Given the description of an element on the screen output the (x, y) to click on. 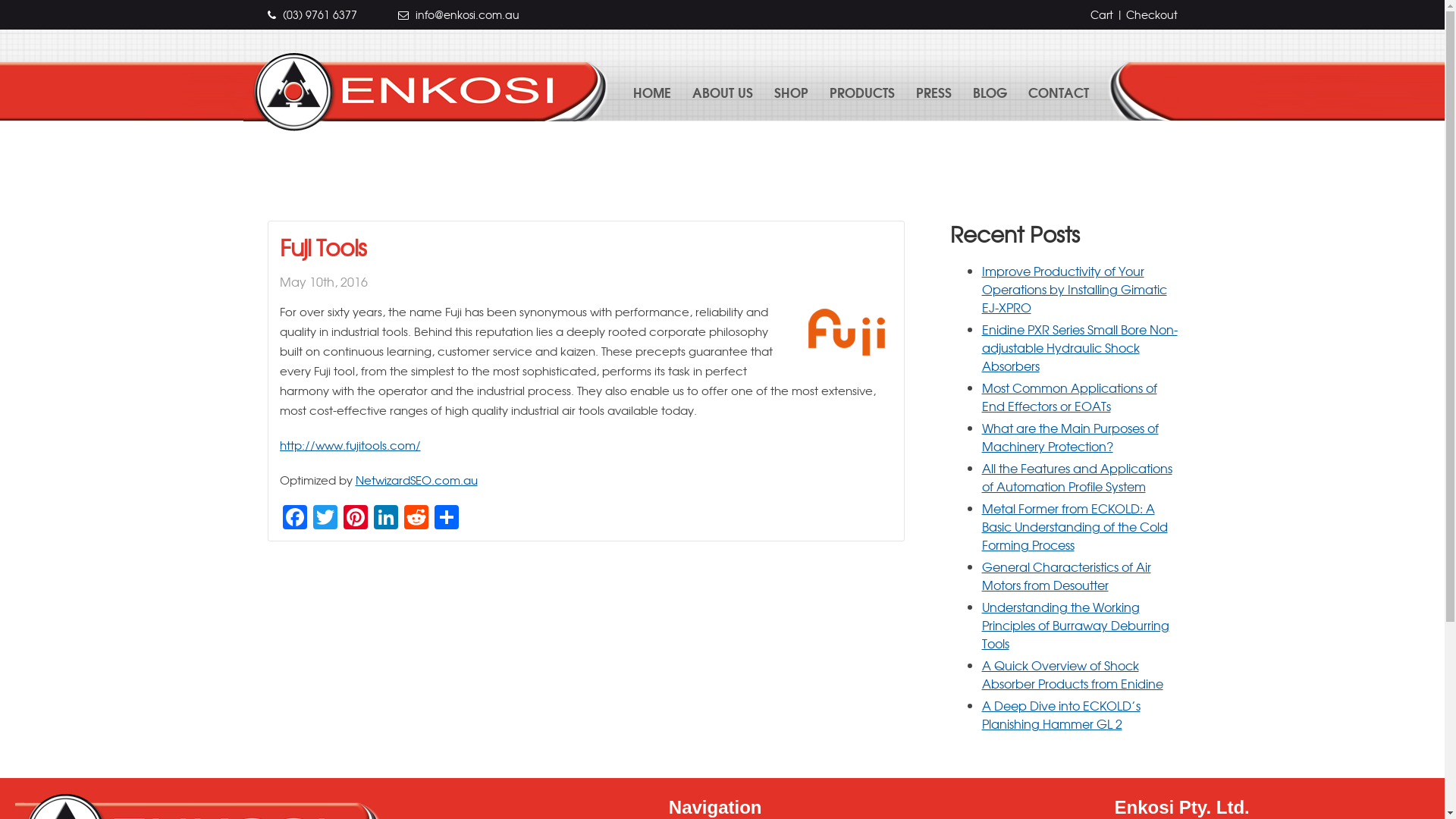
What are the Main Purposes of Machinery Protection? Element type: text (1069, 436)
ABOUT US Element type: text (722, 91)
A Quick Overview of Shock Absorber Products from Enidine Element type: text (1071, 673)
Cart Element type: text (1101, 13)
Facebook Element type: text (294, 517)
Checkout Element type: text (1150, 13)
PRODUCTS Element type: text (862, 91)
Most Common Applications of End Effectors or EOATs Element type: text (1068, 396)
Reddit Element type: text (415, 517)
LinkedIn Element type: text (385, 517)
HOME Element type: text (651, 91)
Pinterest Element type: text (354, 517)
SHOP Element type: text (790, 91)
http://www.fujitools.com/ Element type: text (349, 444)
NetwizardSEO.com.au Element type: text (415, 479)
PRESS Element type: text (933, 91)
CONTACT Element type: text (1058, 91)
General Characteristics of Air Motors from Desoutter Element type: text (1065, 575)
Share Element type: text (445, 517)
BLOG Element type: text (989, 91)
Twitter Element type: text (324, 517)
